Given the description of an element on the screen output the (x, y) to click on. 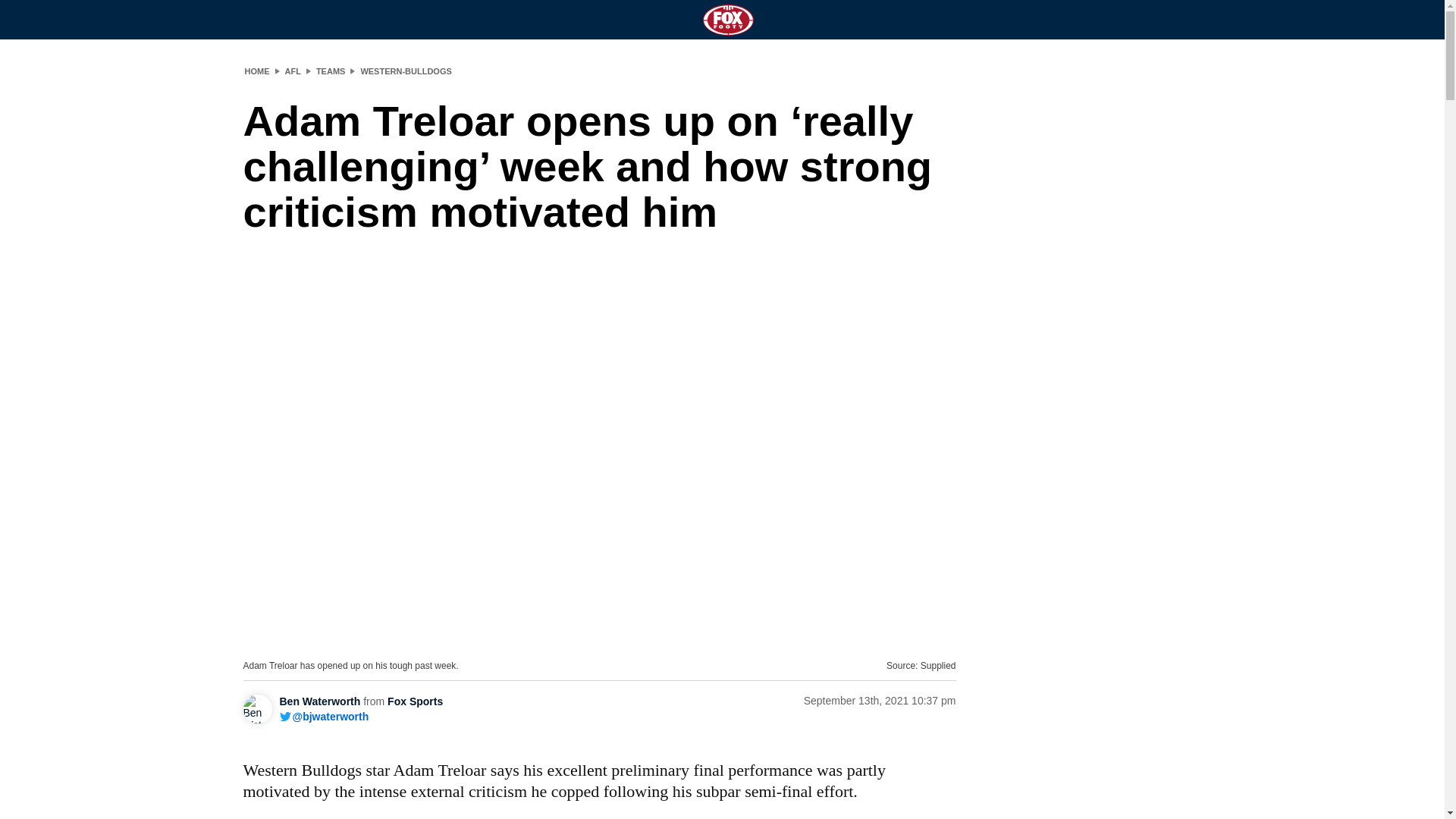
AFL (292, 71)
TEAMS (330, 71)
WESTERN-BULLDOGS (405, 71)
HOME (256, 71)
